Given the description of an element on the screen output the (x, y) to click on. 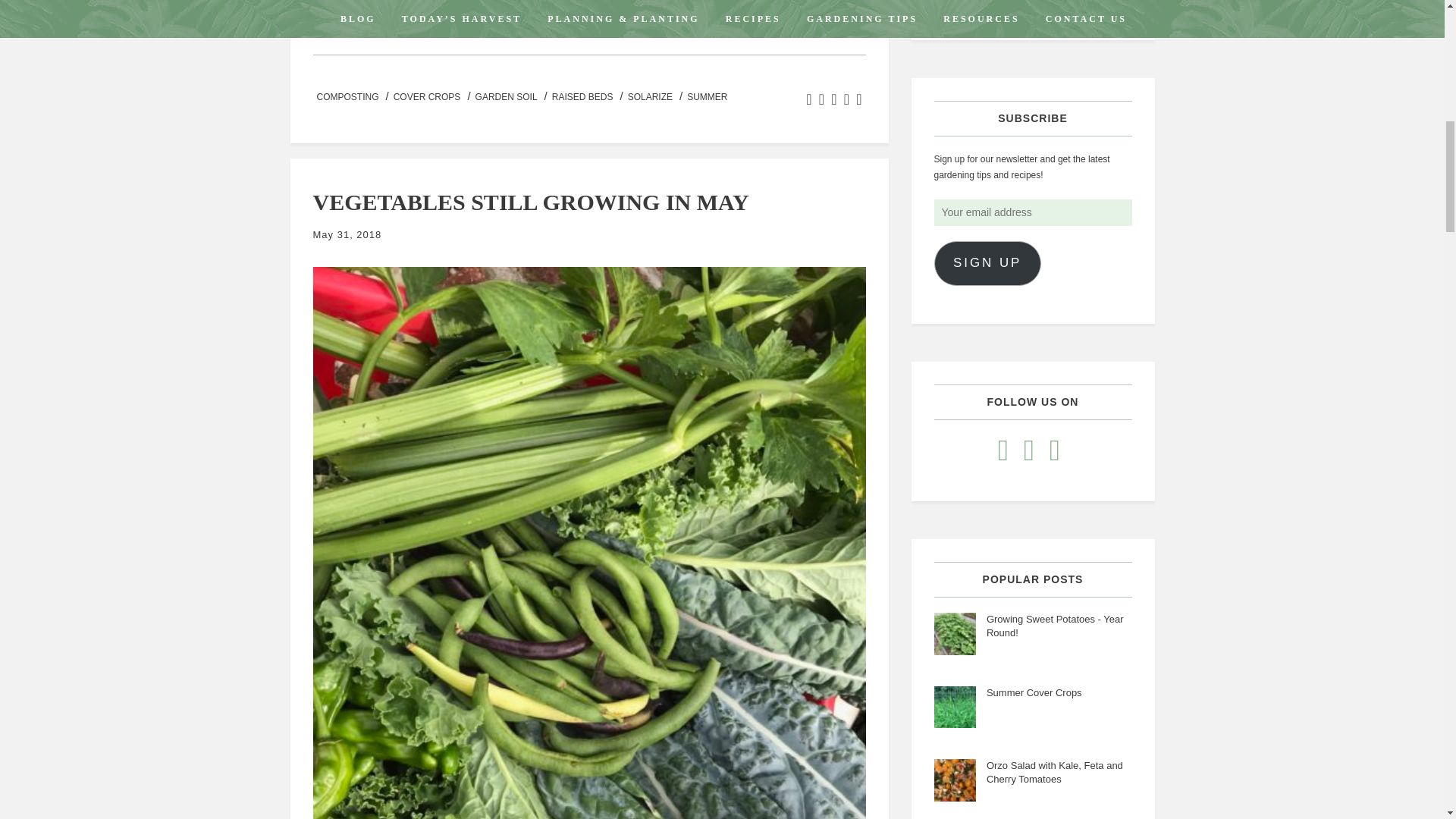
COMPOSTING (347, 97)
COVER CROPS (427, 97)
Search (1033, 8)
SOLARIZE (650, 97)
VEGETABLES STILL GROWING IN MAY (530, 201)
RAISED BEDS (582, 97)
GARDEN SOIL (506, 97)
SUMMER (706, 97)
Vegetables Still Growing in May (530, 201)
